Given the description of an element on the screen output the (x, y) to click on. 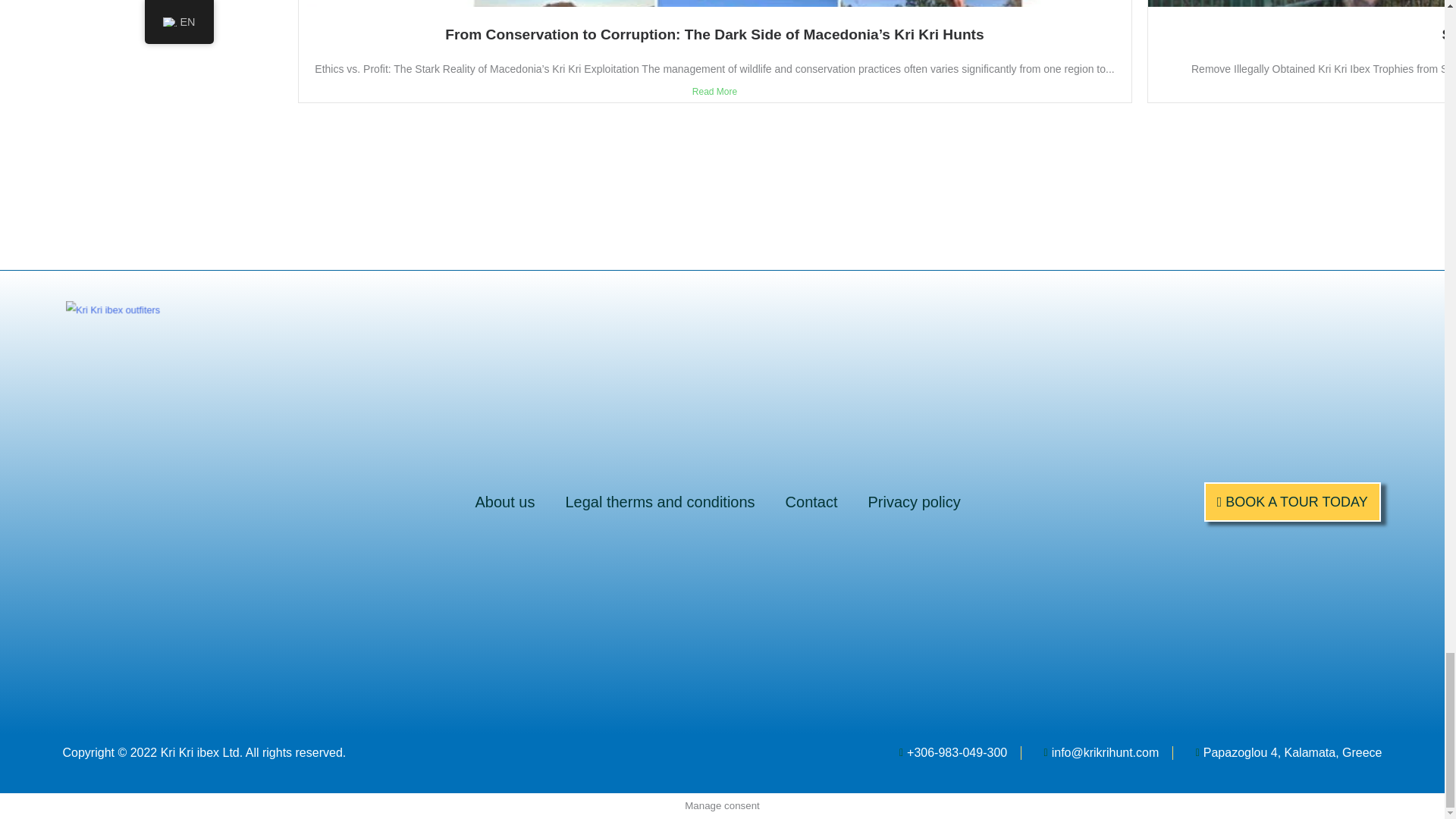
Legal therms and conditions (660, 501)
Read More (714, 91)
Contact (811, 501)
Privacy policy (914, 501)
About us (505, 501)
